Given the description of an element on the screen output the (x, y) to click on. 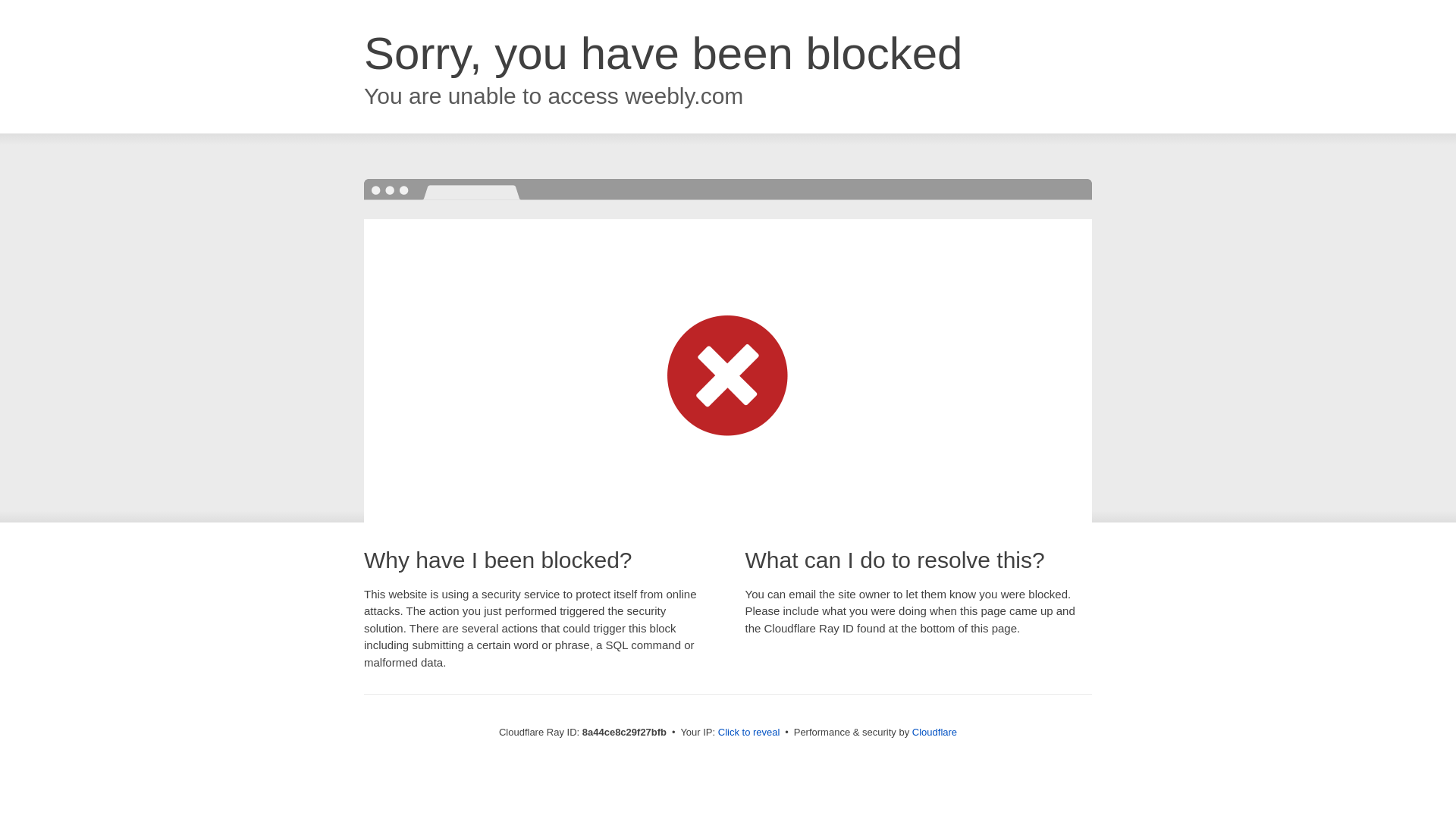
Click to reveal (748, 732)
Cloudflare (934, 731)
